Given the description of an element on the screen output the (x, y) to click on. 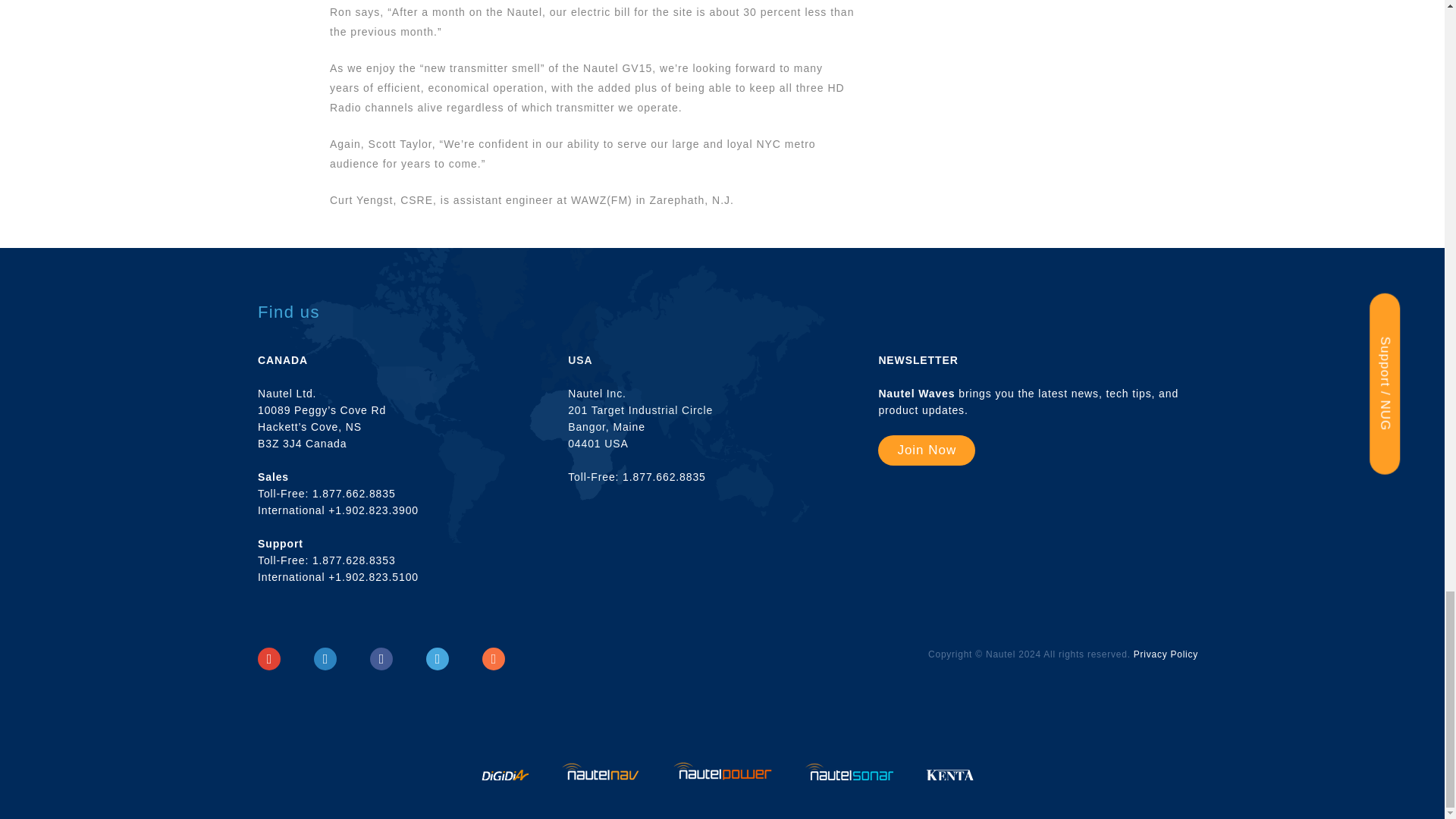
Kenta logo (950, 776)
NautelPower (724, 776)
NautelSonar (850, 776)
NautelNav (602, 776)
Digidia logo (506, 776)
